Given the description of an element on the screen output the (x, y) to click on. 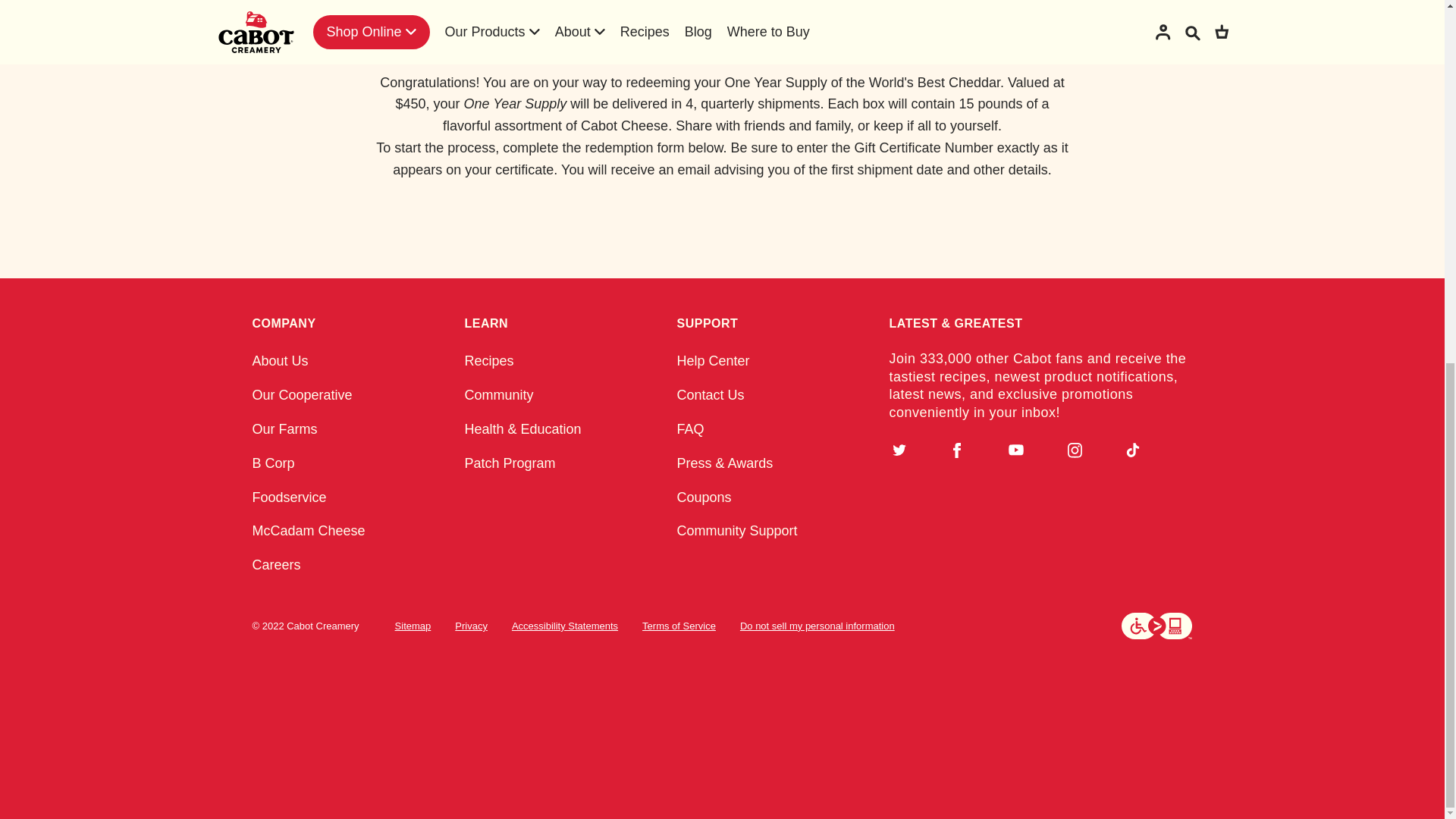
Our Cooperative (301, 394)
Careers (275, 564)
B Corp (272, 462)
Foodservice (288, 497)
Recipes (488, 360)
About Us (279, 360)
Our Farms (284, 428)
Community (498, 394)
McCadam Cheese (308, 530)
